Given the description of an element on the screen output the (x, y) to click on. 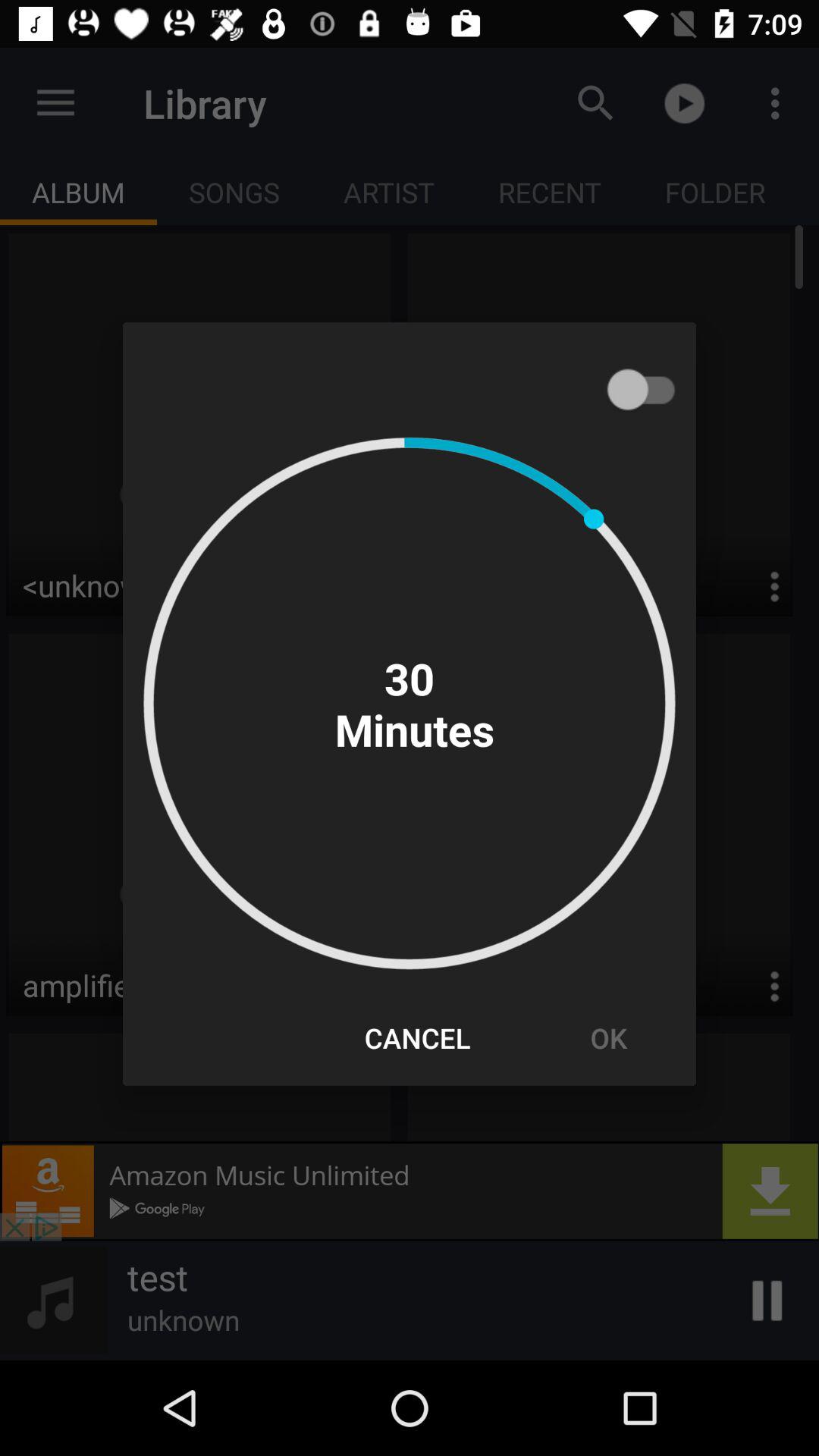
select the ok (608, 1037)
